Given the description of an element on the screen output the (x, y) to click on. 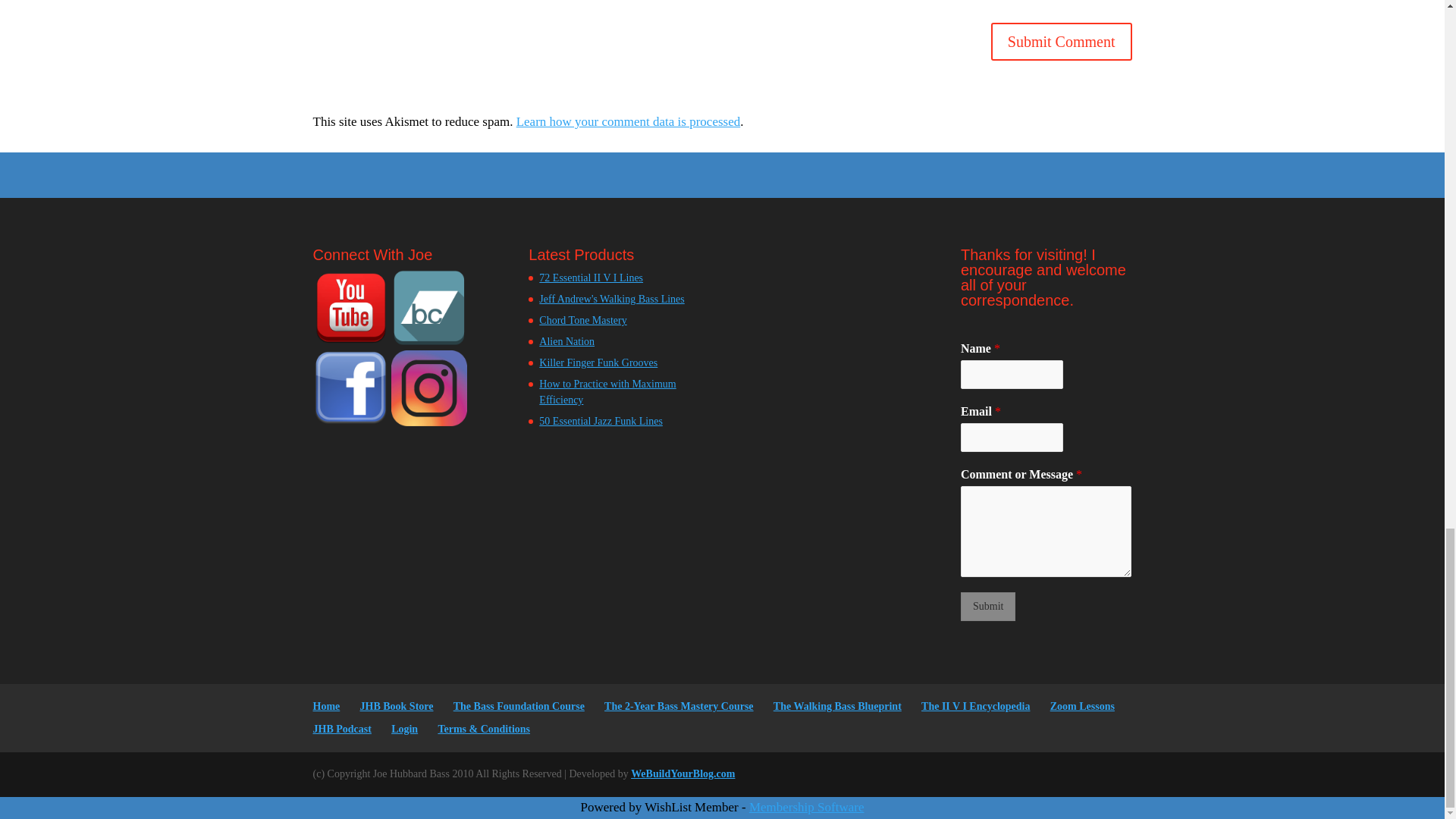
Submit Comment (1061, 41)
Learn how your comment data is processed (628, 121)
Membership Software (806, 807)
Submit Comment (1061, 41)
